Given the description of an element on the screen output the (x, y) to click on. 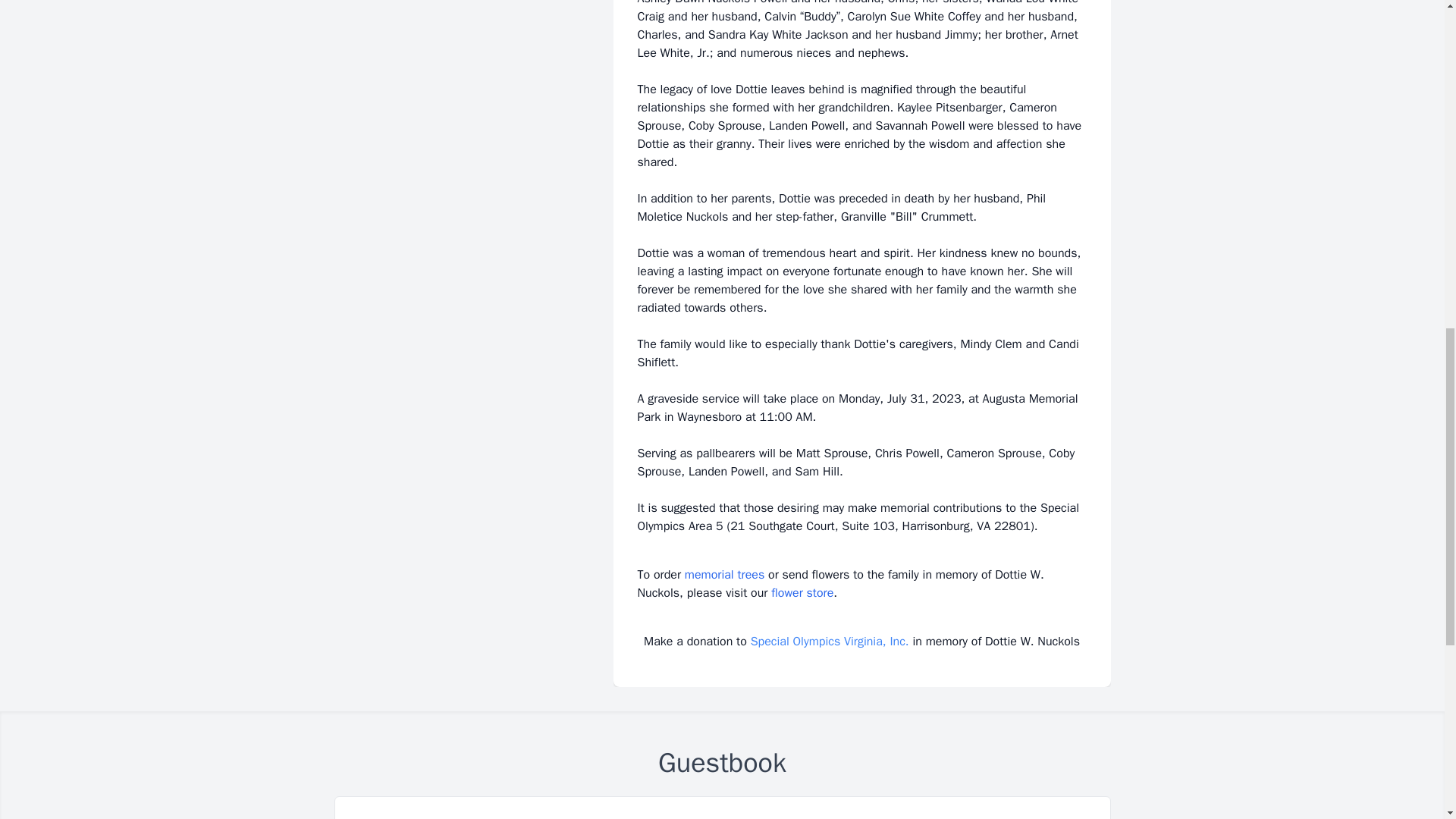
flower store (801, 592)
memorial trees (724, 574)
